Given the description of an element on the screen output the (x, y) to click on. 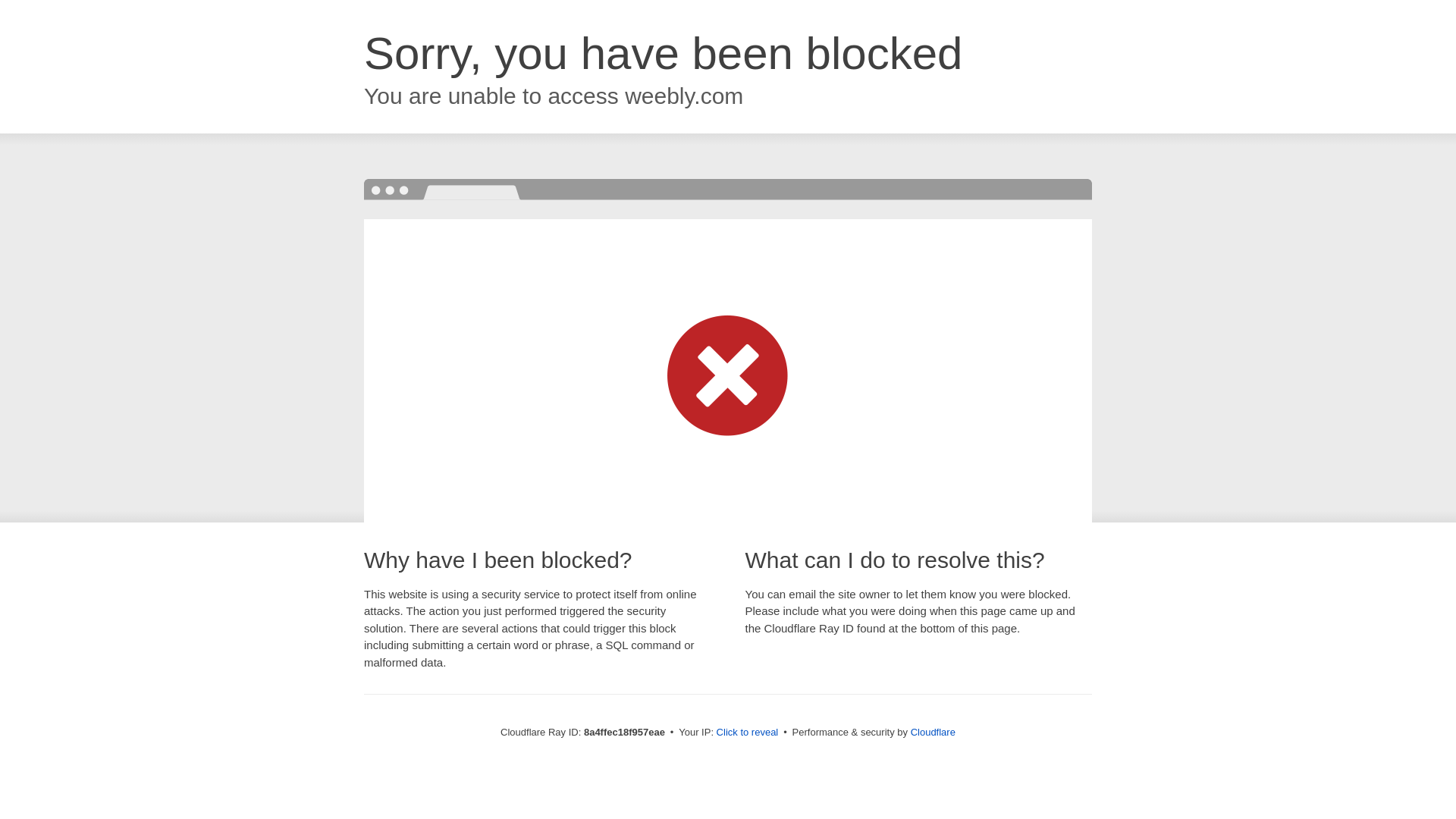
Click to reveal (747, 732)
Cloudflare (933, 731)
